Given the description of an element on the screen output the (x, y) to click on. 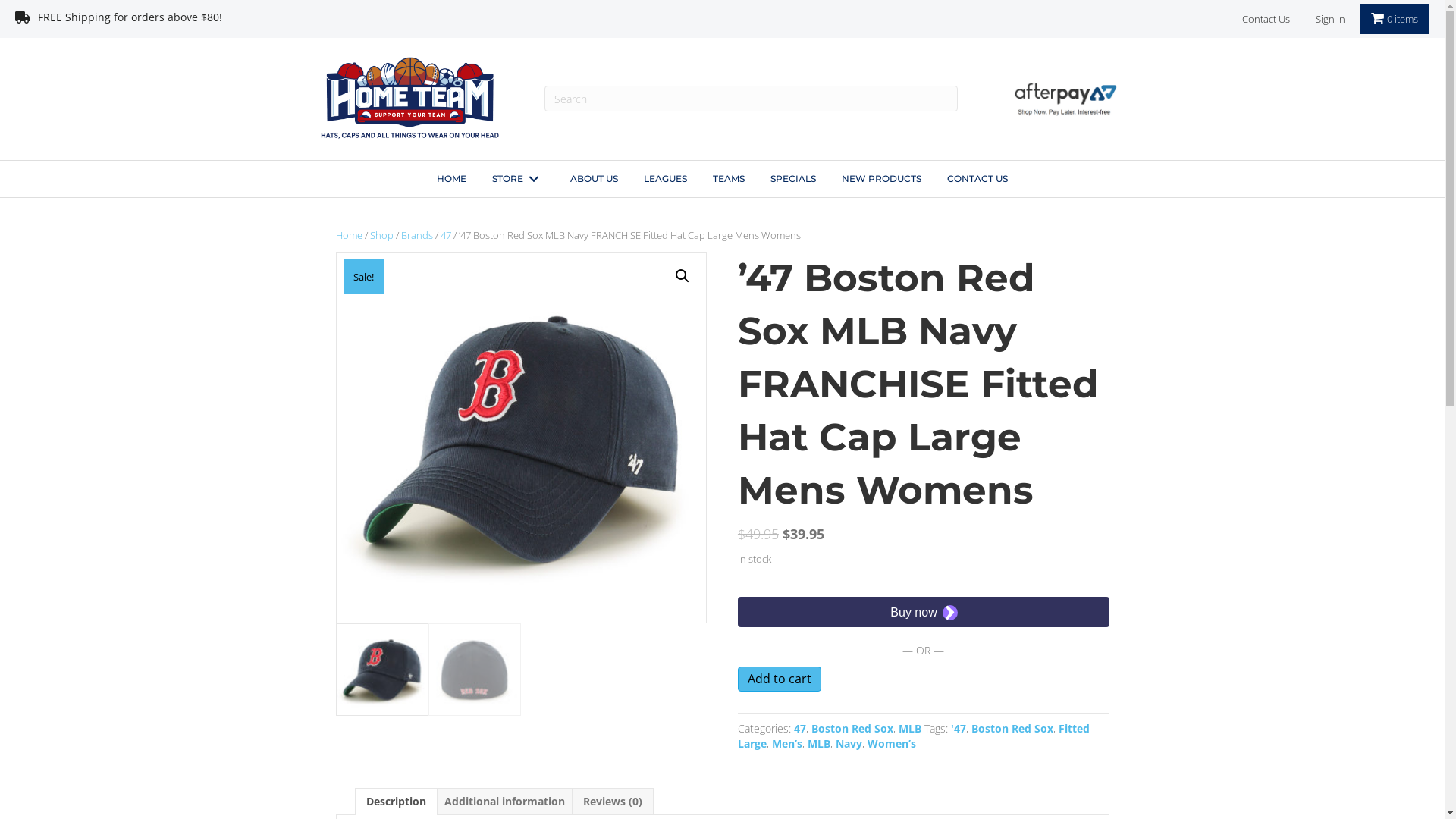
NEW PRODUCTS Element type: text (881, 178)
0 items Element type: text (1393, 18)
Brands Element type: text (416, 234)
Boston Red Sox Element type: text (852, 728)
STORE Element type: text (517, 178)
Secure payment button frame Element type: hover (923, 611)
Fitted Large Element type: text (913, 735)
Navy Element type: text (848, 743)
Home Element type: text (348, 234)
47 Element type: text (444, 234)
'47 Element type: text (958, 728)
B-FRANC02RPF-NY-HR-F Element type: hover (520, 437)
47 Element type: text (799, 728)
MLB Element type: text (909, 728)
MLB Element type: text (818, 743)
HOME Element type: text (451, 178)
ABOUT US Element type: text (593, 178)
Contact Us Element type: text (1265, 19)
afterpay-img Element type: hover (1063, 98)
hometeam_hires_transparent-text Element type: hover (409, 95)
Boston Red Sox Element type: text (1012, 728)
TEAMS Element type: text (728, 178)
Description Element type: text (395, 801)
CONTACT US Element type: text (977, 178)
LEAGUES Element type: text (665, 178)
Additional information Element type: text (504, 801)
Type and press Enter to search. Element type: hover (750, 98)
SPECIALS Element type: text (793, 178)
Shop Element type: text (381, 234)
Sign In Element type: text (1330, 19)
FREE Shipping for orders above $80! Element type: text (361, 21)
Add to cart Element type: text (779, 678)
Reviews (0) Element type: text (611, 801)
